Given the description of an element on the screen output the (x, y) to click on. 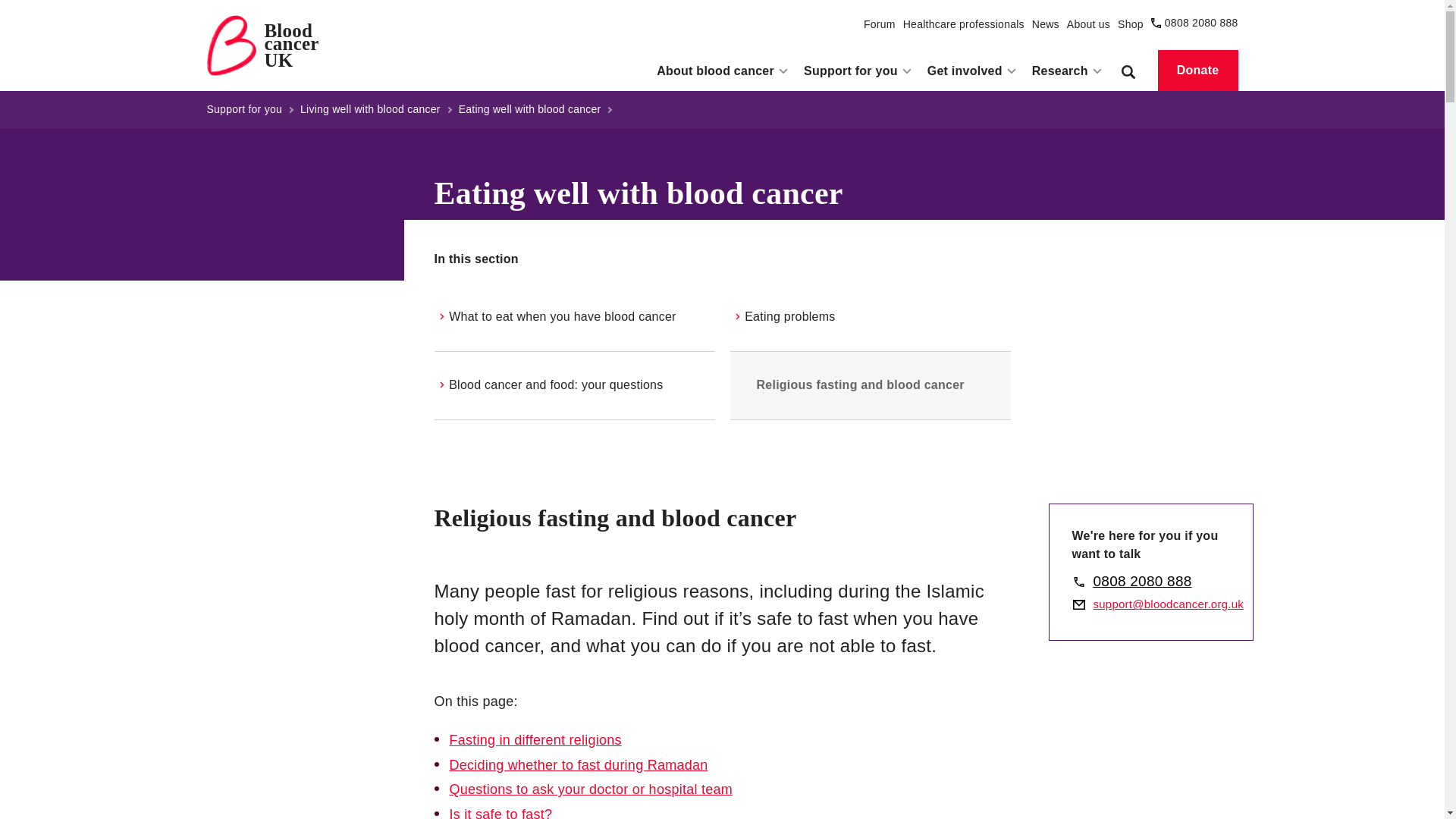
Support for you (243, 109)
Forum (262, 45)
Living well with blood cancer (879, 24)
0808 2080 888 (370, 109)
About us (1201, 23)
Eating well with blood cancer (1088, 24)
Support for you (529, 109)
News (857, 72)
Healthcare professionals (1045, 24)
